Given the description of an element on the screen output the (x, y) to click on. 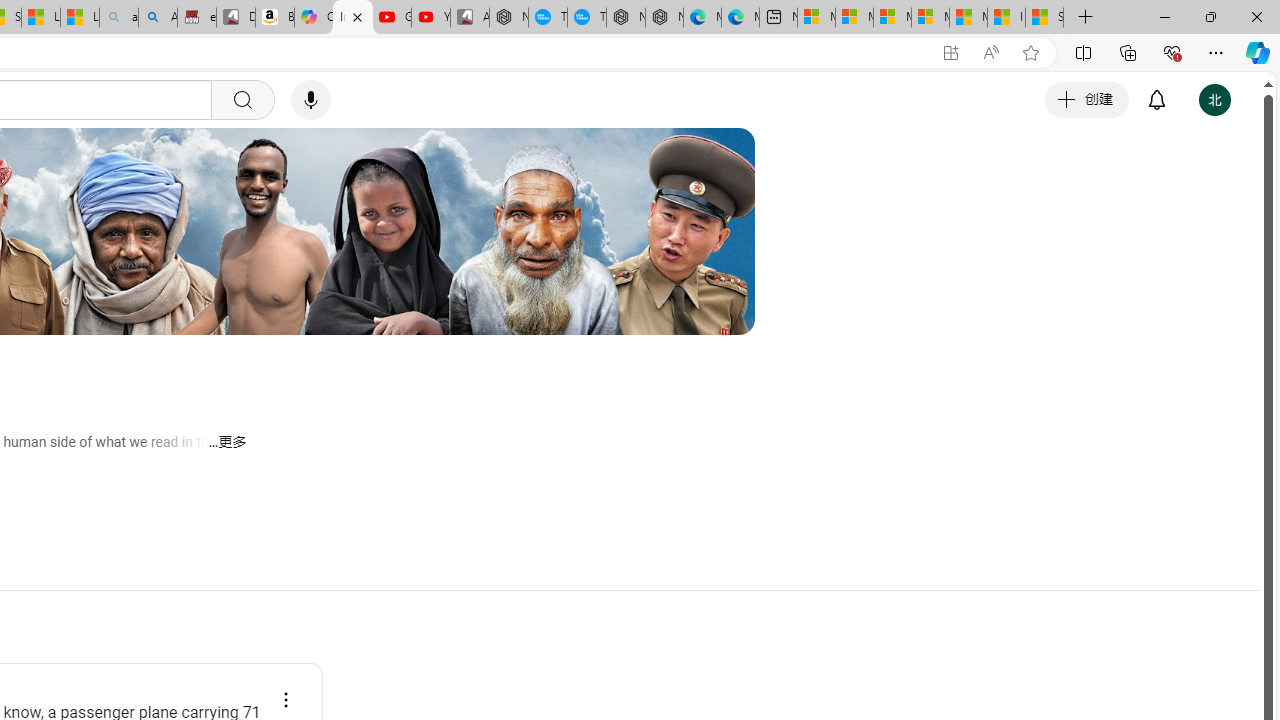
amazon - Search - Sleeping (118, 17)
Gloom - YouTube (391, 17)
YouTube Kids - An App Created for Kids to Explore Content (431, 17)
Copilot (313, 17)
Indigo Traveller - YouTube (353, 17)
I Gained 20 Pounds of Muscle in 30 Days! | Watch (1006, 17)
